Given the description of an element on the screen output the (x, y) to click on. 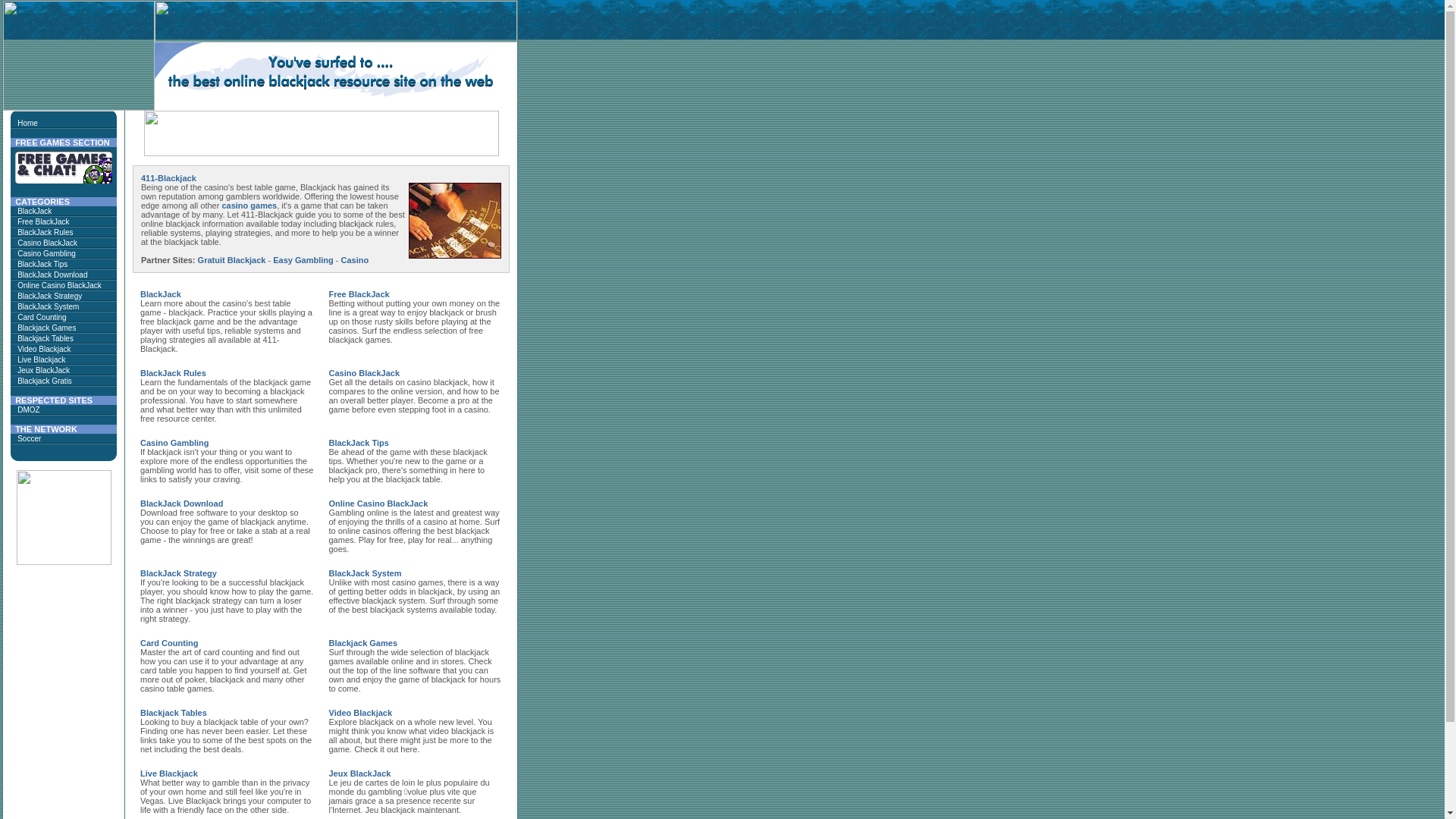
Casino BlackJack Element type: text (364, 372)
Live Blackjack Element type: text (41, 359)
Free BlackJack Element type: text (359, 293)
BlackJack Rules Element type: text (44, 232)
BlackJack Download Element type: text (52, 274)
Casino BlackJack Element type: text (47, 242)
Card Counting Element type: text (168, 642)
Online Casino BlackJack Element type: text (378, 503)
Blackjack Gratis Element type: text (44, 380)
Jeux BlackJack Element type: text (360, 773)
411-Blackjack Element type: text (168, 177)
Jeux BlackJack Element type: text (43, 370)
Video Blackjack Element type: text (360, 712)
Card Counting Element type: text (41, 317)
Blackjack Tables Element type: text (173, 712)
BlackJack Strategy Element type: text (49, 295)
BlackJack System Element type: text (365, 572)
Blackjack Games Element type: text (363, 642)
BlackJack Download Element type: text (181, 503)
Casino Gambling Element type: text (174, 442)
BlackJack Element type: text (160, 293)
BlackJack Tips Element type: text (359, 442)
Soccer Element type: text (28, 438)
Blackjack Tables Element type: text (45, 338)
Casino Gambling Element type: text (46, 253)
BlackJack Strategy Element type: text (178, 572)
Easy Gambling Element type: text (302, 259)
DMOZ Element type: text (28, 409)
Home Element type: text (27, 123)
BlackJack Tips Element type: text (42, 264)
BlackJack Rules Element type: text (173, 372)
Video Blackjack Element type: text (43, 349)
Casino Element type: text (355, 259)
Gratuit Blackjack Element type: text (231, 259)
Free BlackJack Element type: text (43, 221)
BlackJack System Element type: text (47, 306)
Online Casino BlackJack Element type: text (59, 285)
Live Blackjack Element type: text (168, 773)
BlackJack Element type: text (34, 211)
casino games Element type: text (248, 205)
Blackjack Games Element type: text (46, 327)
